Given the description of an element on the screen output the (x, y) to click on. 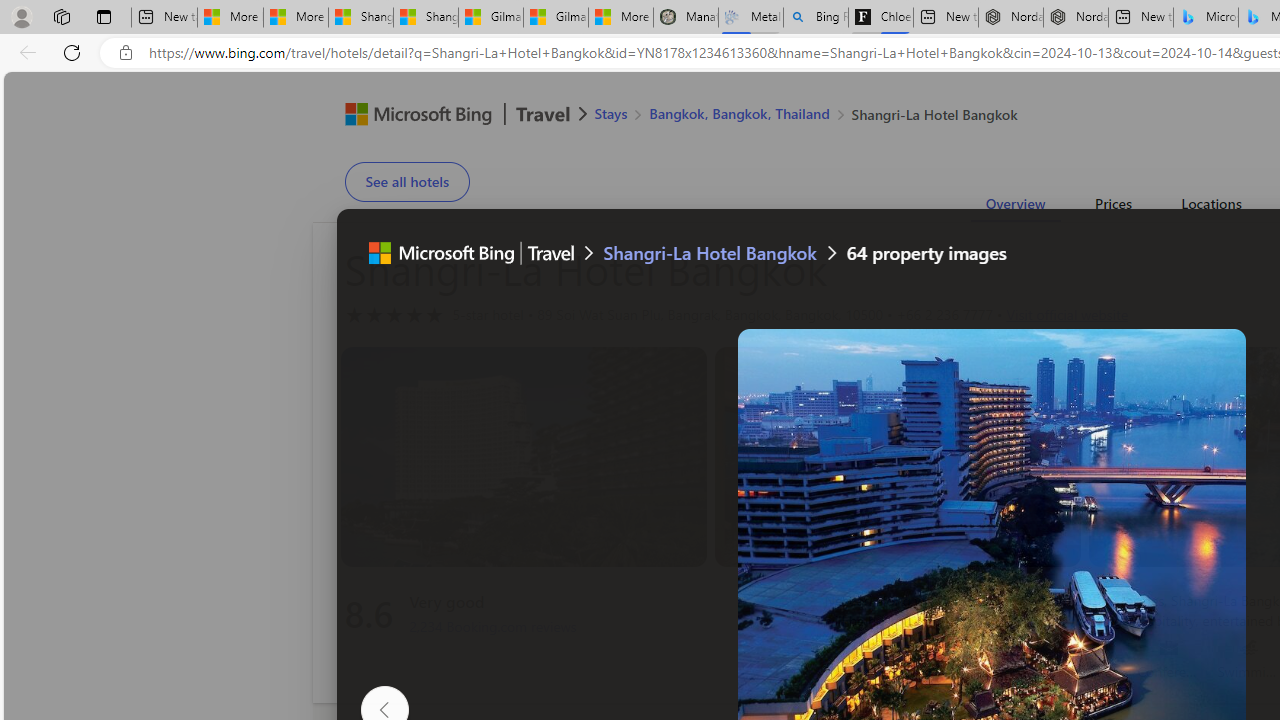
Manatee Mortality Statistics | FWC (686, 17)
Shanghai, China weather forecast | Microsoft Weather (426, 17)
Gilma and Hector both pose tropical trouble for Hawaii (555, 17)
Chloe Sorvino (880, 17)
Bing Real Estate - Home sales and rental listings (815, 17)
Microsoft Bing Travel - Stays in Bangkok, Bangkok, Thailand (1205, 17)
